Given the description of an element on the screen output the (x, y) to click on. 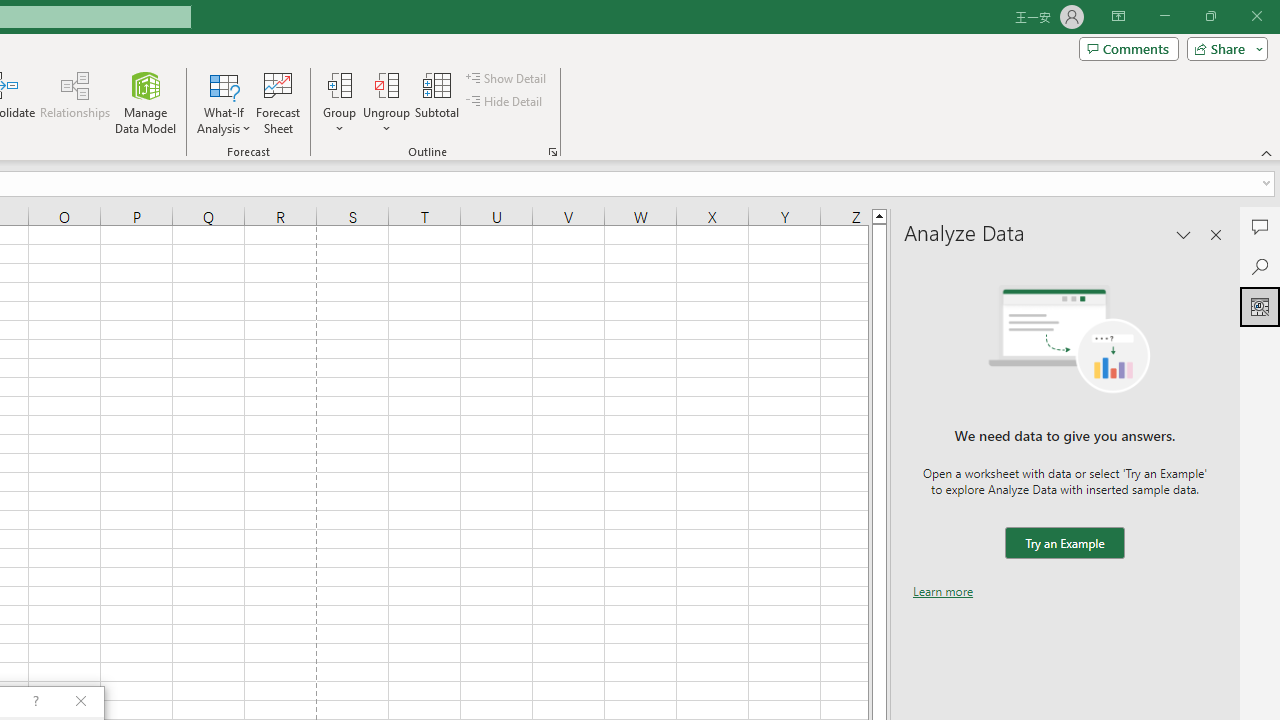
Subtotal (437, 102)
What-If Analysis (223, 102)
We need data to give you answers. Try an Example (1064, 543)
Manage Data Model (145, 102)
Task Pane Options (1183, 234)
Group and Outline Settings (552, 151)
Show Detail (507, 78)
Hide Detail (505, 101)
